Given the description of an element on the screen output the (x, y) to click on. 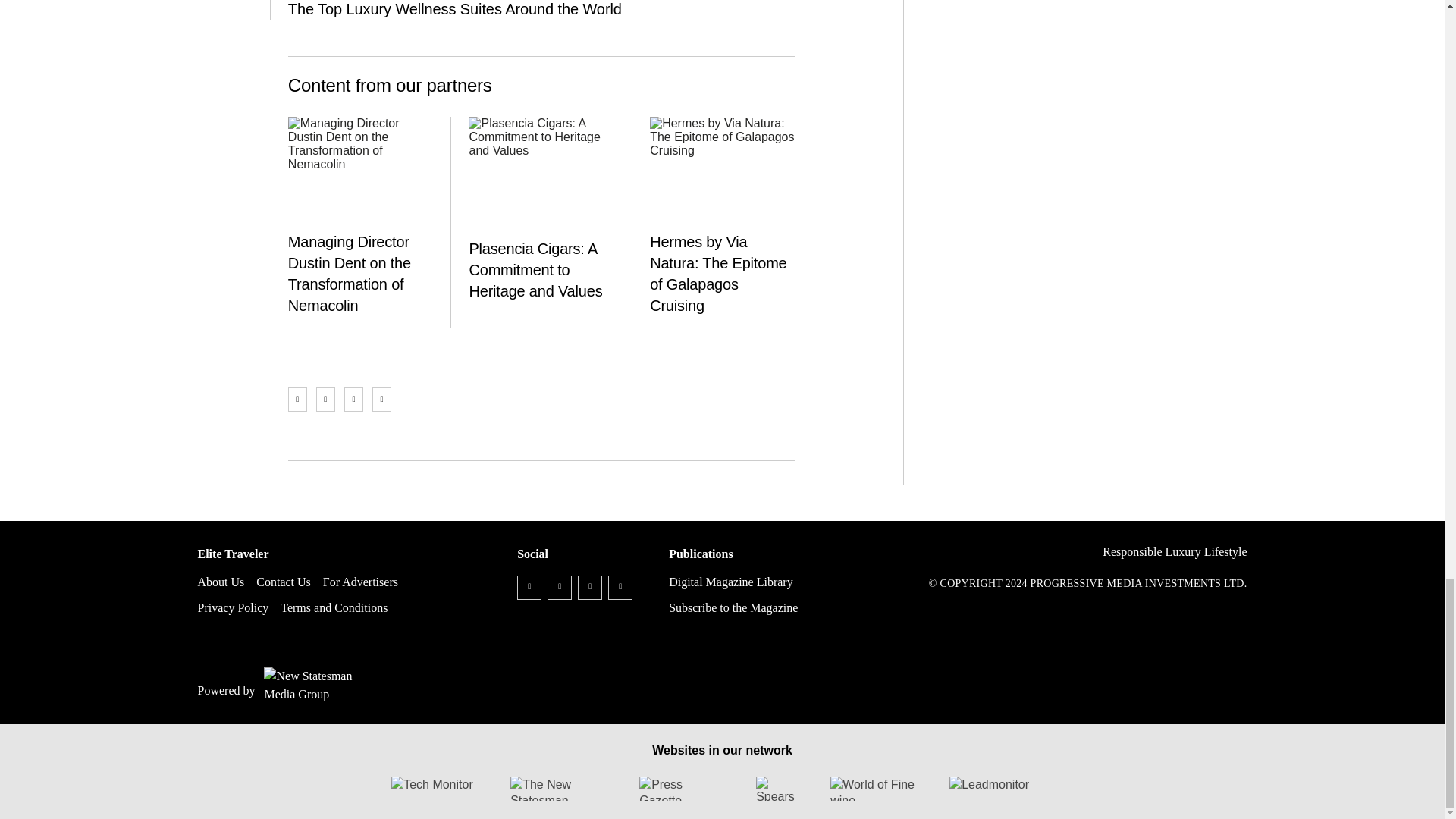
Hermes by Via Natura: The Epitome of Galapagos Cruising (721, 171)
Plasencia Cigars: A Commitment to Heritage and Values (540, 171)
